Given the description of an element on the screen output the (x, y) to click on. 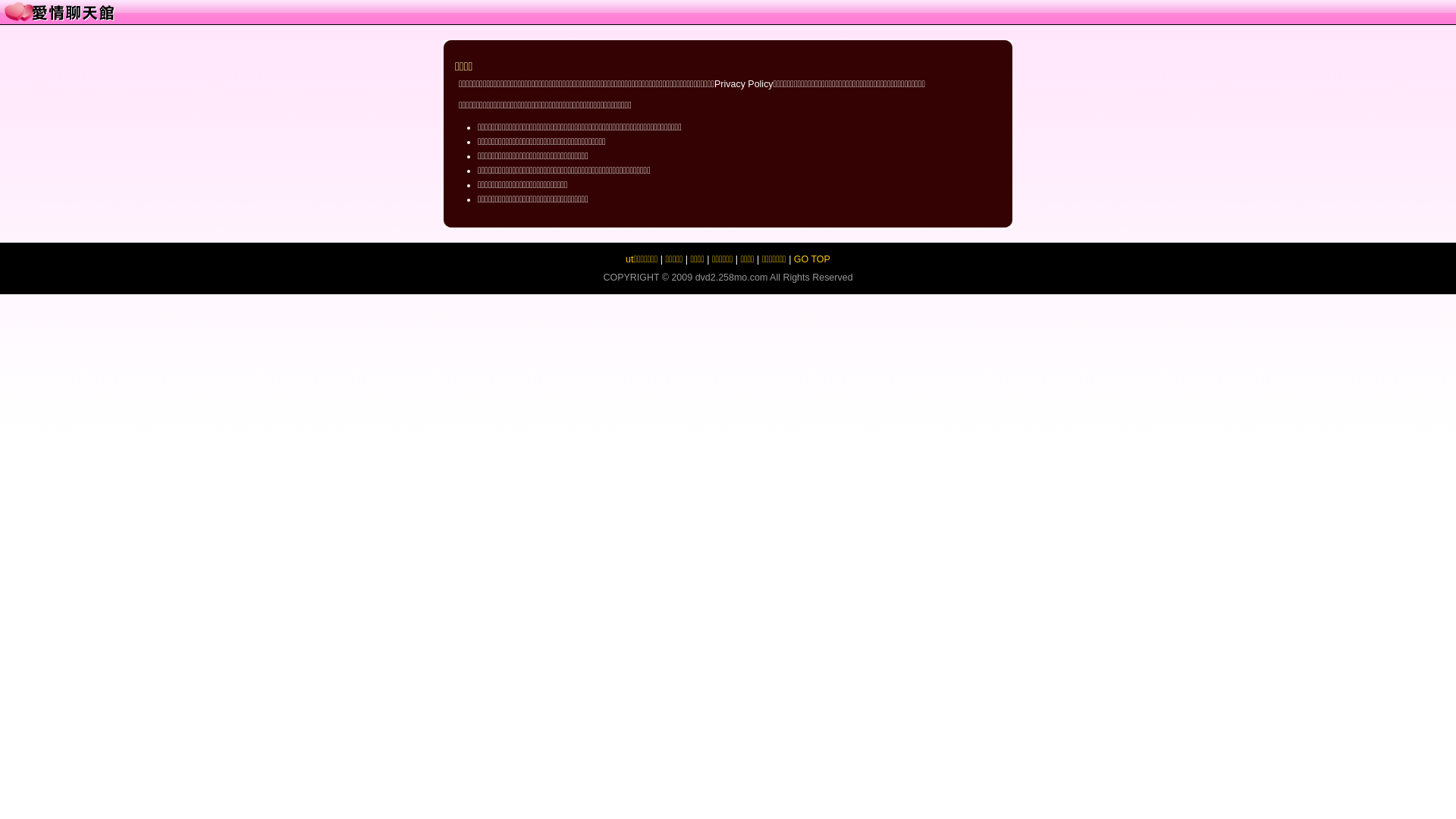
GO TOP Element type: text (811, 259)
dvd2.258mo.com Element type: text (731, 277)
